Given the description of an element on the screen output the (x, y) to click on. 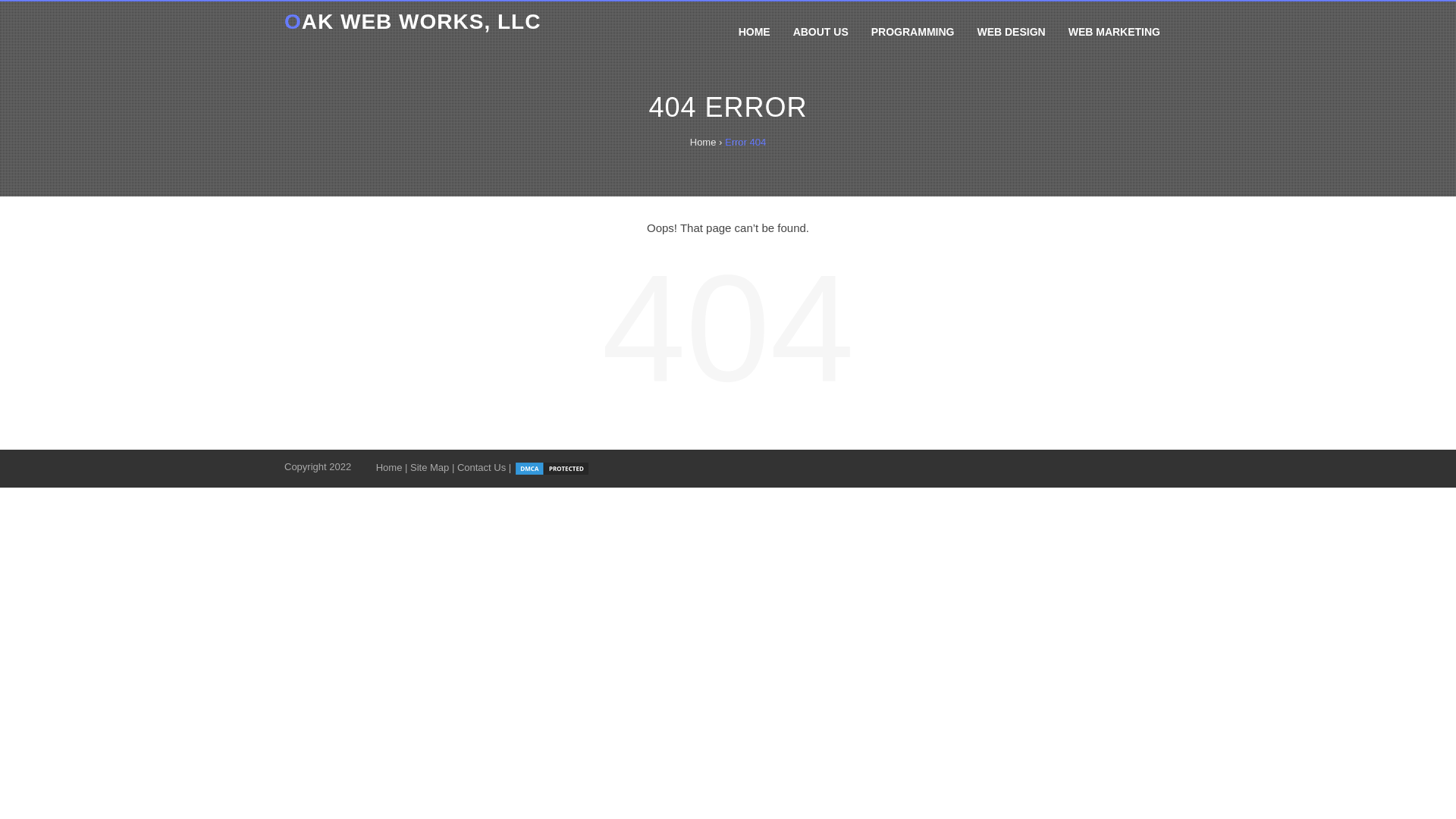
Contact Us (481, 467)
ABOUT US (820, 31)
Home (703, 142)
WEB DESIGN (1011, 31)
Home (389, 467)
Site Map (429, 467)
PROGRAMMING (913, 31)
OAK WEB WORKS, LLC (411, 22)
WEB MARKETING (1114, 31)
HOME (753, 31)
DMCA.com Protection Status (551, 467)
